Given the description of an element on the screen output the (x, y) to click on. 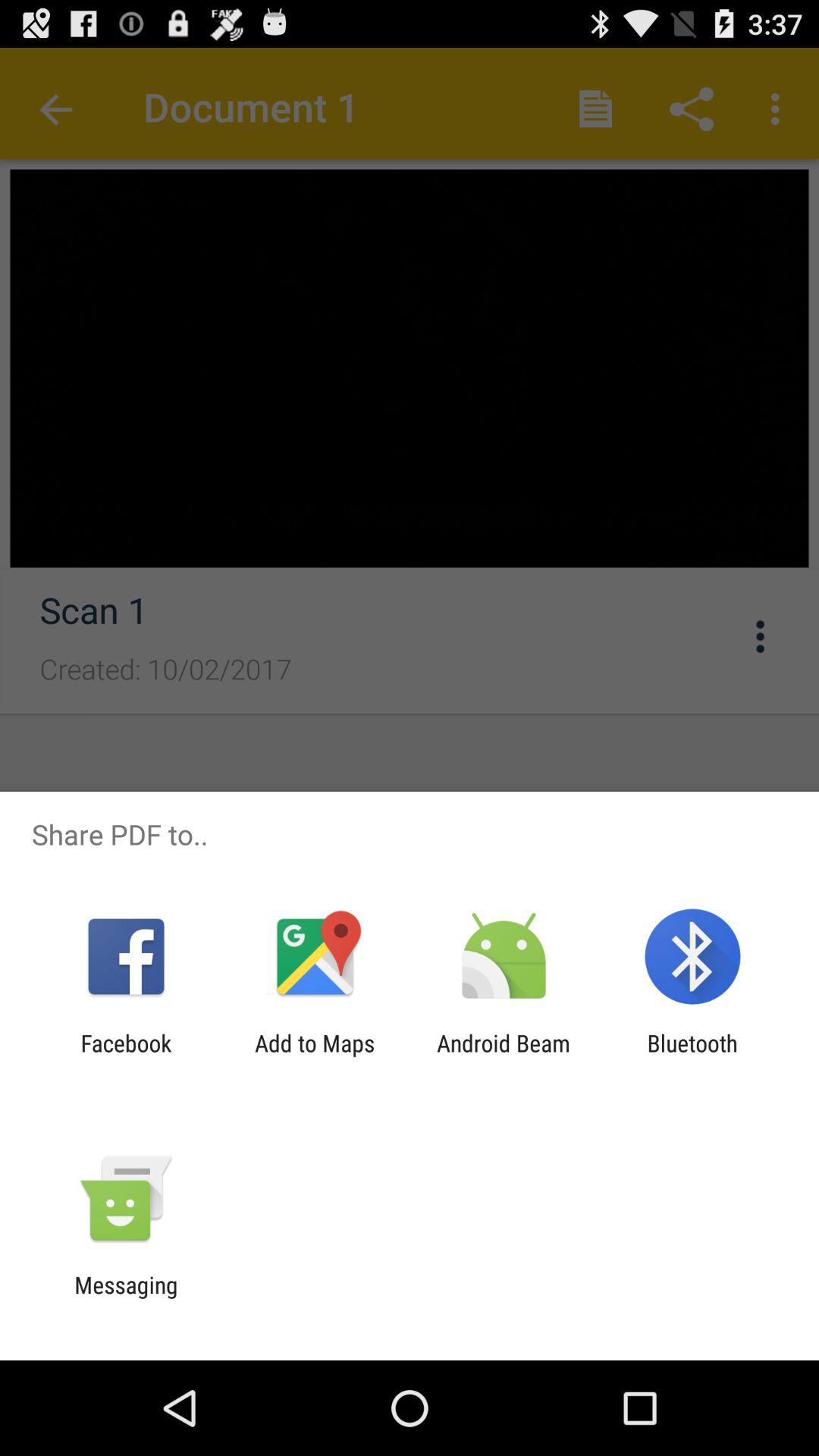
open the item next to android beam (314, 1056)
